Given the description of an element on the screen output the (x, y) to click on. 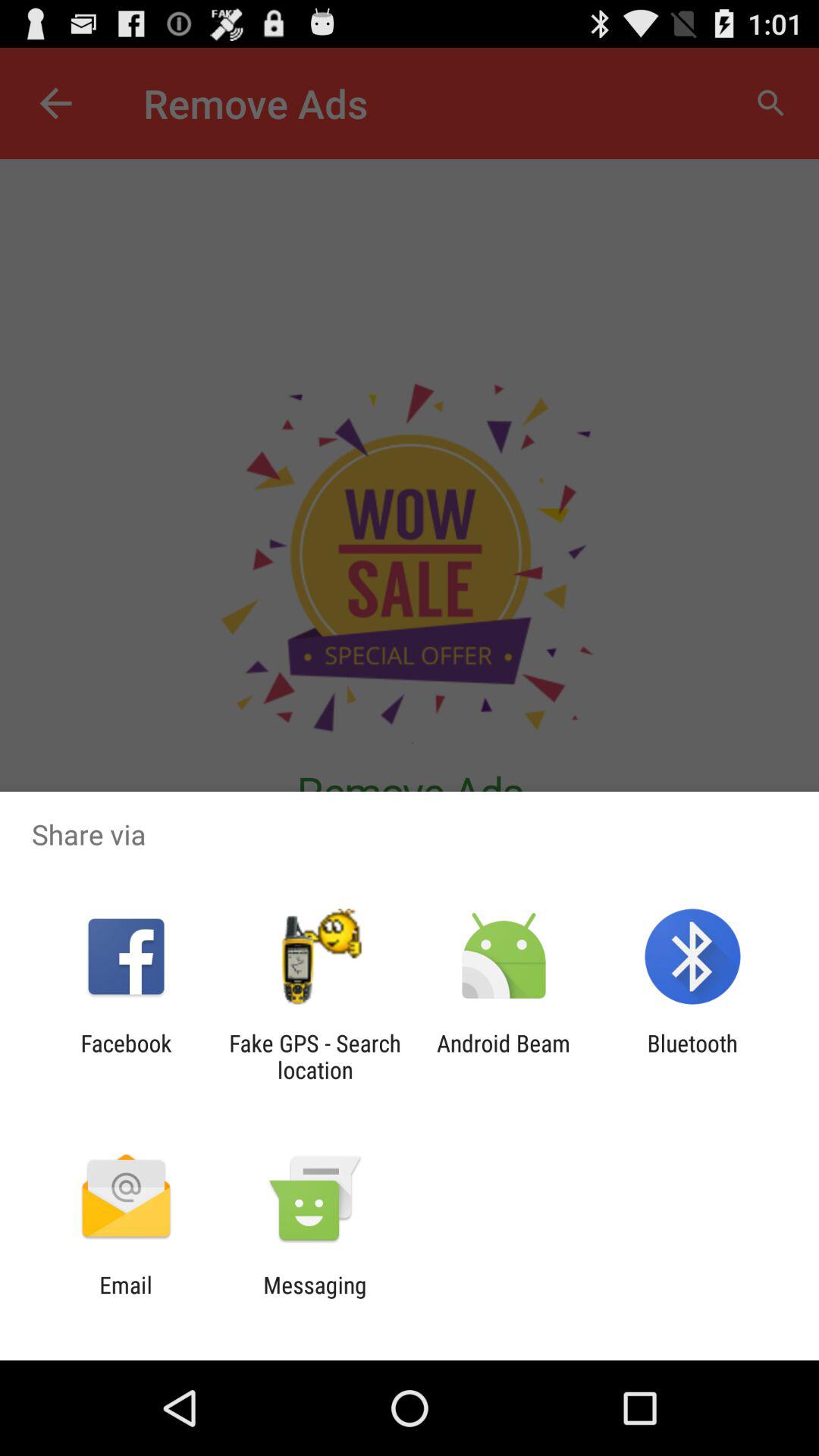
click app to the left of fake gps search app (125, 1056)
